Given the description of an element on the screen output the (x, y) to click on. 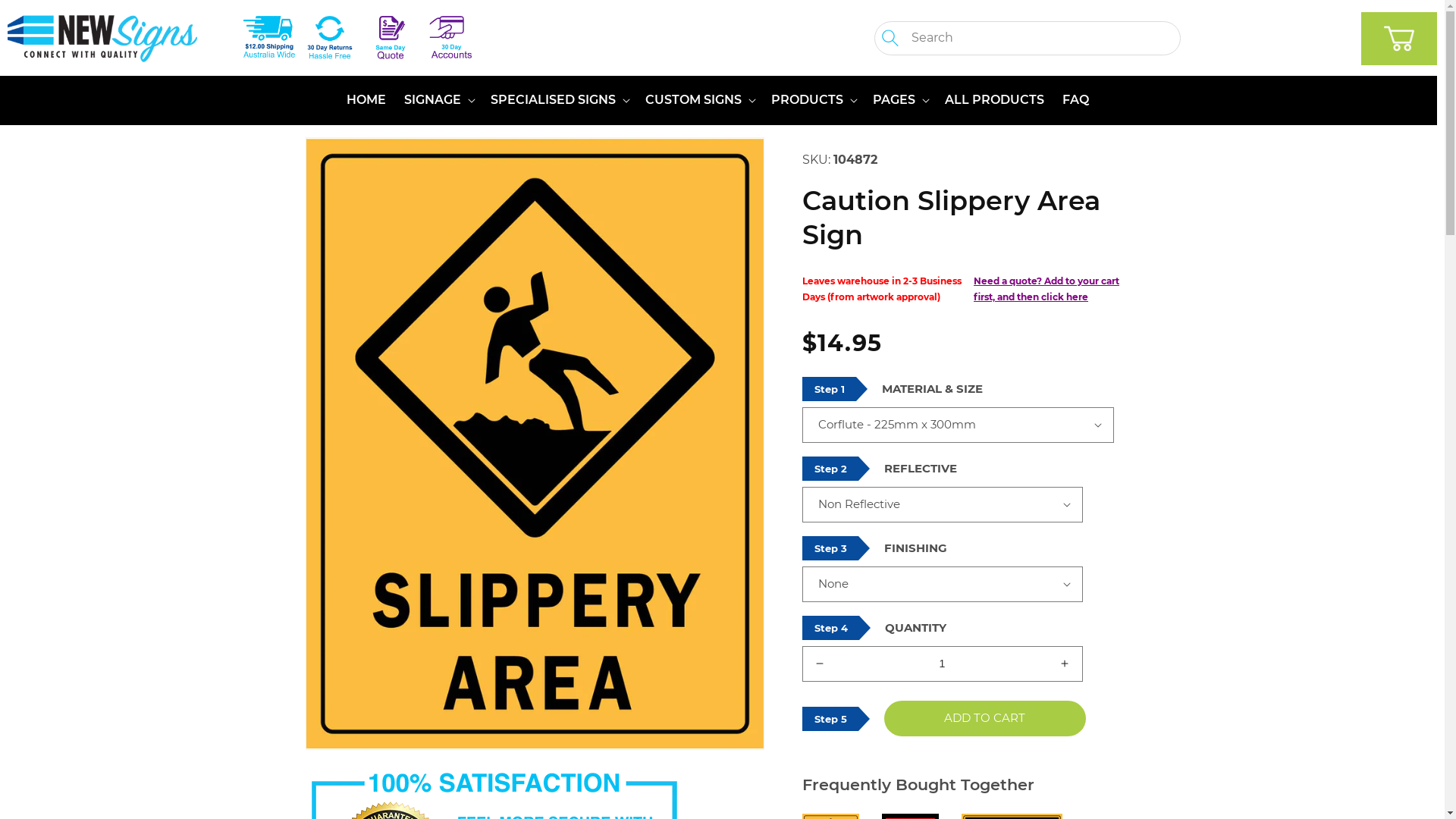
Increase quantity for Caution Slippery Area Sign Element type: text (1065, 663)
Cart Element type: text (1399, 38)
Decrease quantity for Caution Slippery Area Sign Element type: text (819, 663)
ADD TO CART Element type: text (984, 718)
Need a quote? Add to your cart first, and then click here Element type: text (1046, 289)
FAQ Element type: text (1075, 100)
HOME Element type: text (366, 100)
ALL PRODUCTS Element type: text (994, 100)
SKIP TO PRODUCT INFORMATION Element type: text (350, 154)
